Given the description of an element on the screen output the (x, y) to click on. 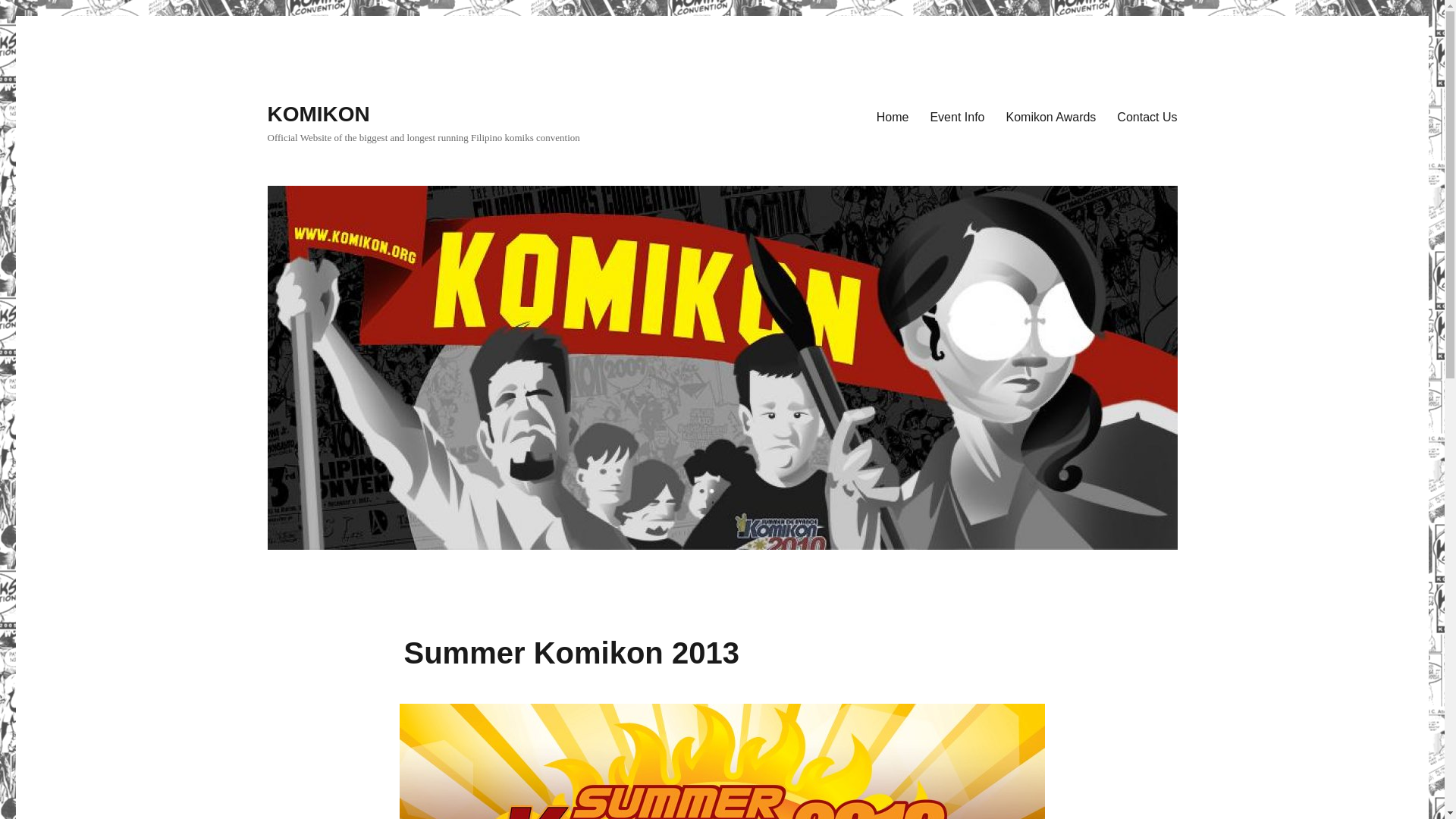
Komikon Awards (1050, 116)
Contact Us (1147, 116)
Home (893, 116)
Event Info (956, 116)
KOMIKON (317, 114)
